Given the description of an element on the screen output the (x, y) to click on. 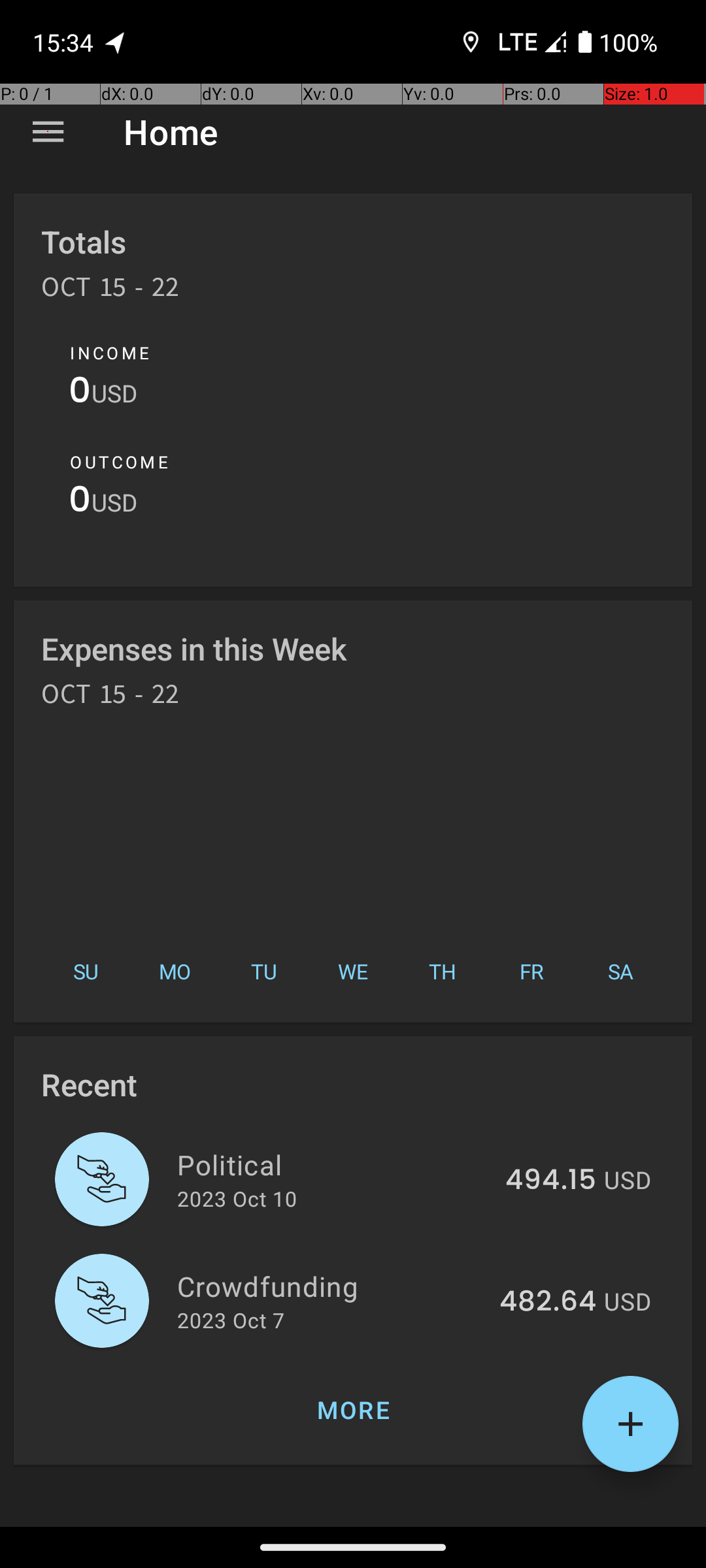
Political Element type: android.widget.TextView (333, 1164)
494.15 Element type: android.widget.TextView (550, 1180)
Crowdfunding Element type: android.widget.TextView (330, 1285)
482.64 Element type: android.widget.TextView (547, 1301)
